Given the description of an element on the screen output the (x, y) to click on. 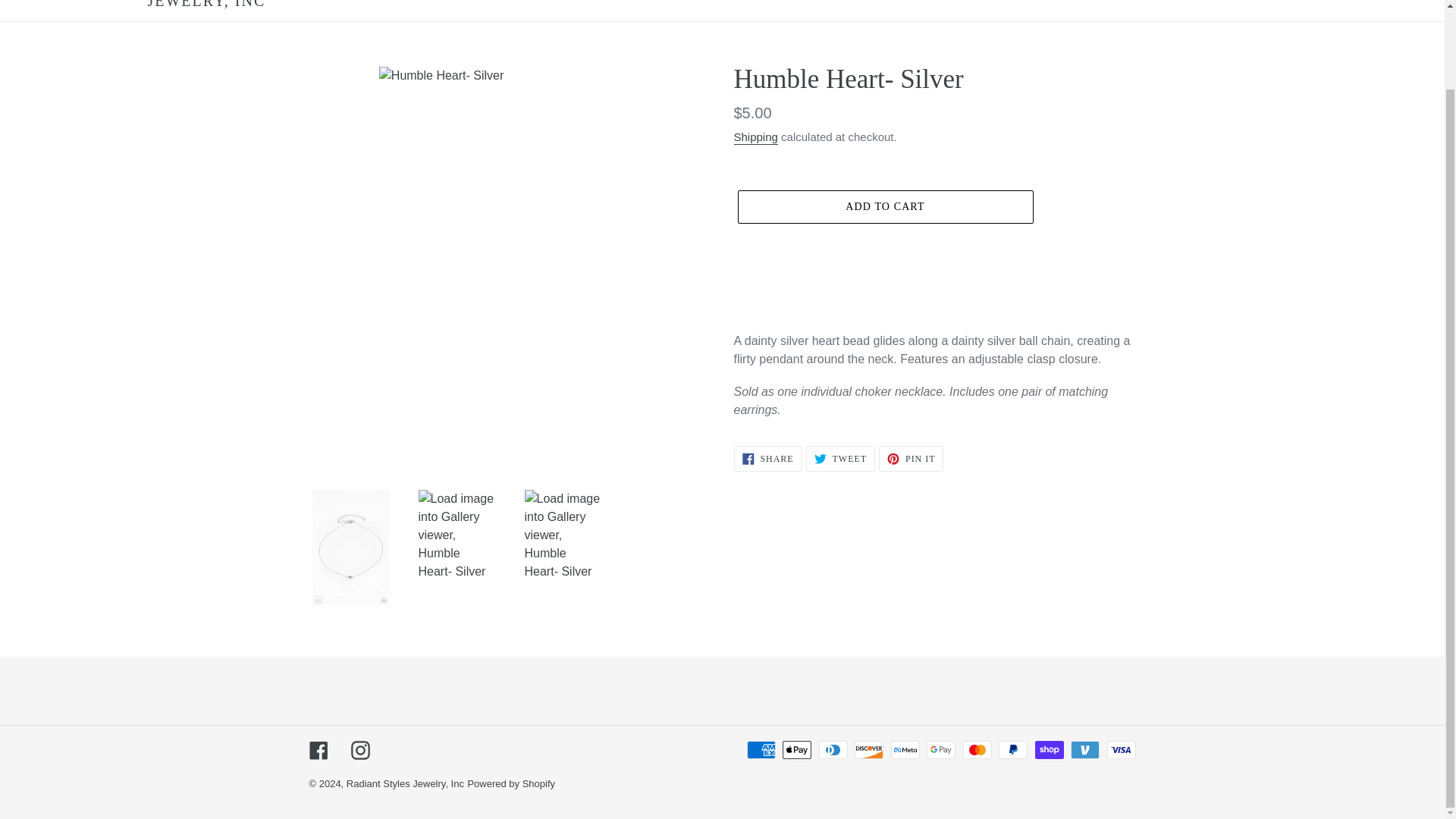
Radiant Styles Jewelry, Inc (405, 783)
Shipping (755, 137)
Powered by Shopify (510, 783)
Facebook (767, 458)
Instagram (318, 750)
ADD TO CART (911, 458)
